Given the description of an element on the screen output the (x, y) to click on. 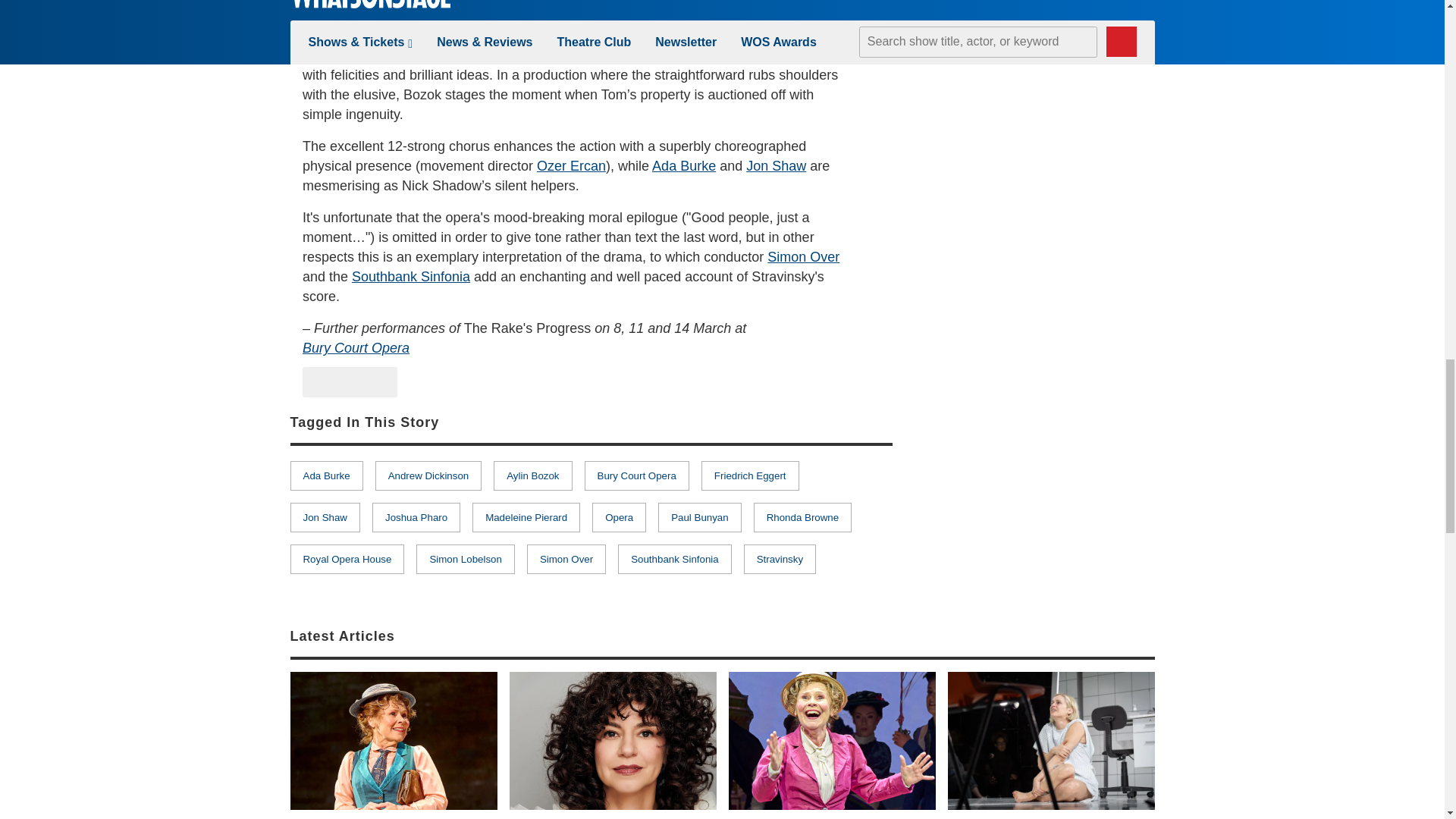
3rd party ad content (1040, 497)
